Given the description of an element on the screen output the (x, y) to click on. 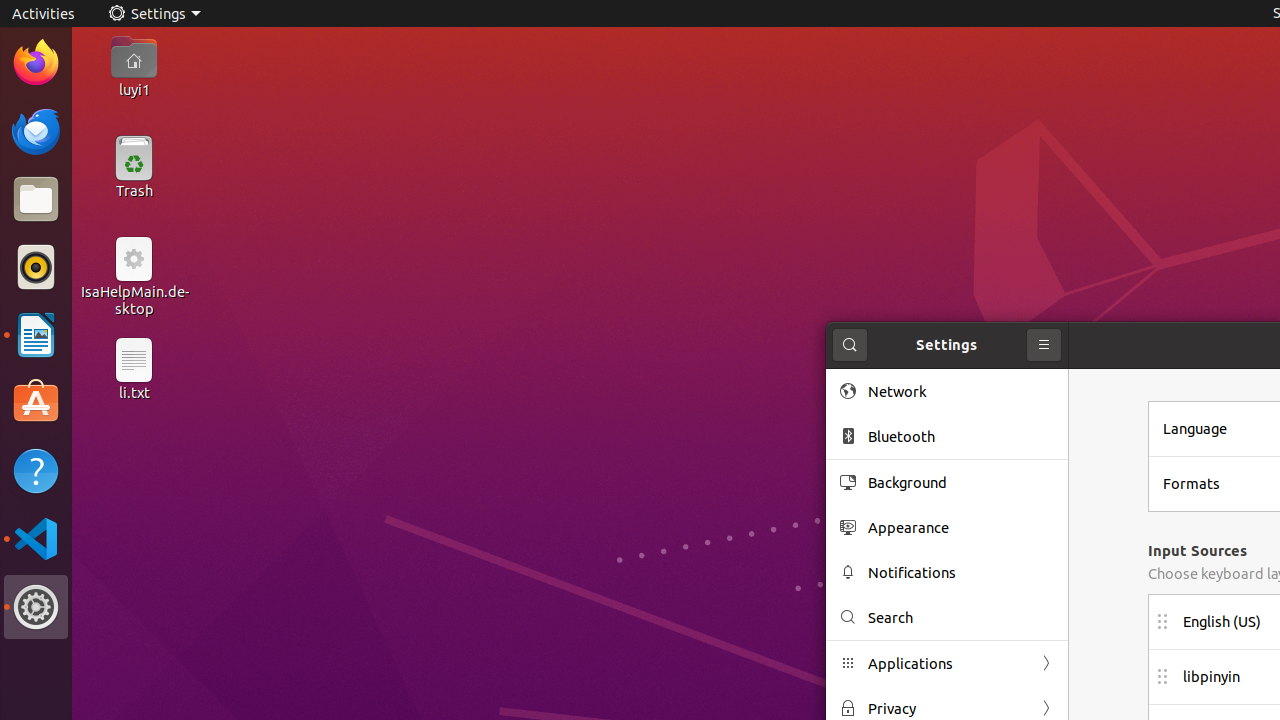
Trash Element type: label (133, 191)
Appearance Element type: label (961, 527)
Forward Element type: icon (1046, 708)
Search Element type: label (961, 617)
luyi1 Element type: label (133, 89)
